Given the description of an element on the screen output the (x, y) to click on. 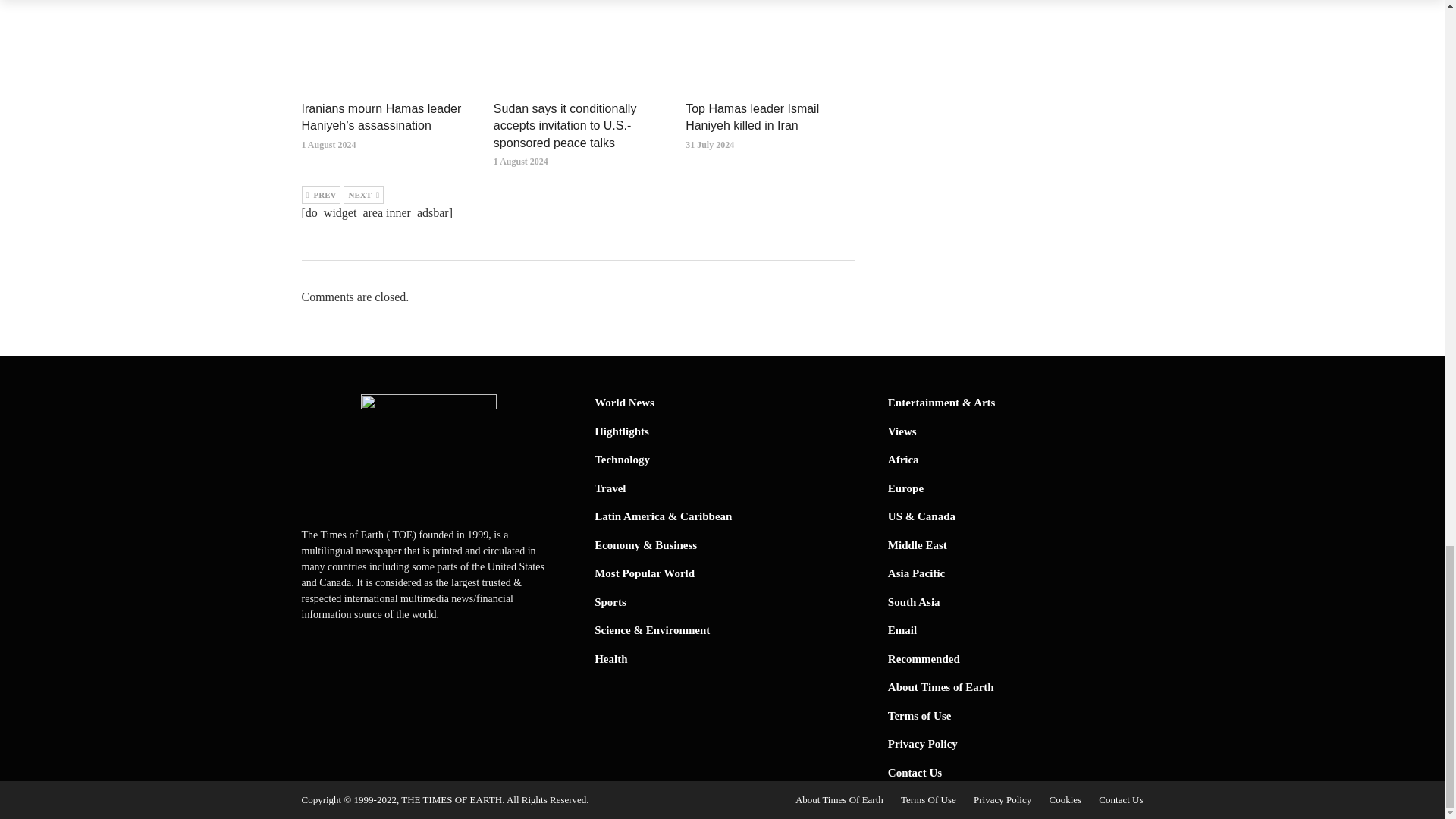
Next (363, 194)
Previous (320, 194)
